Given the description of an element on the screen output the (x, y) to click on. 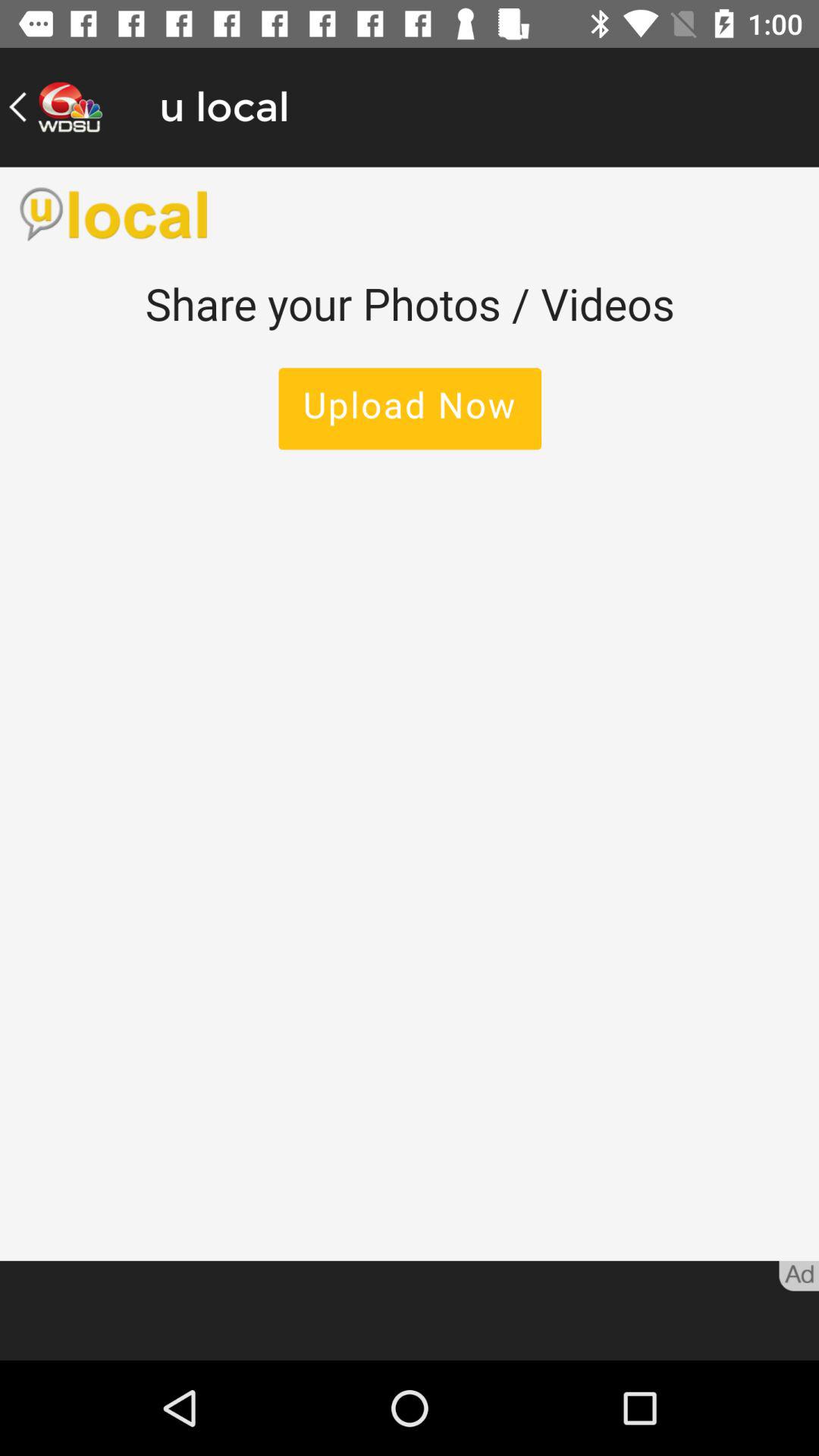
upload (409, 713)
